Given the description of an element on the screen output the (x, y) to click on. 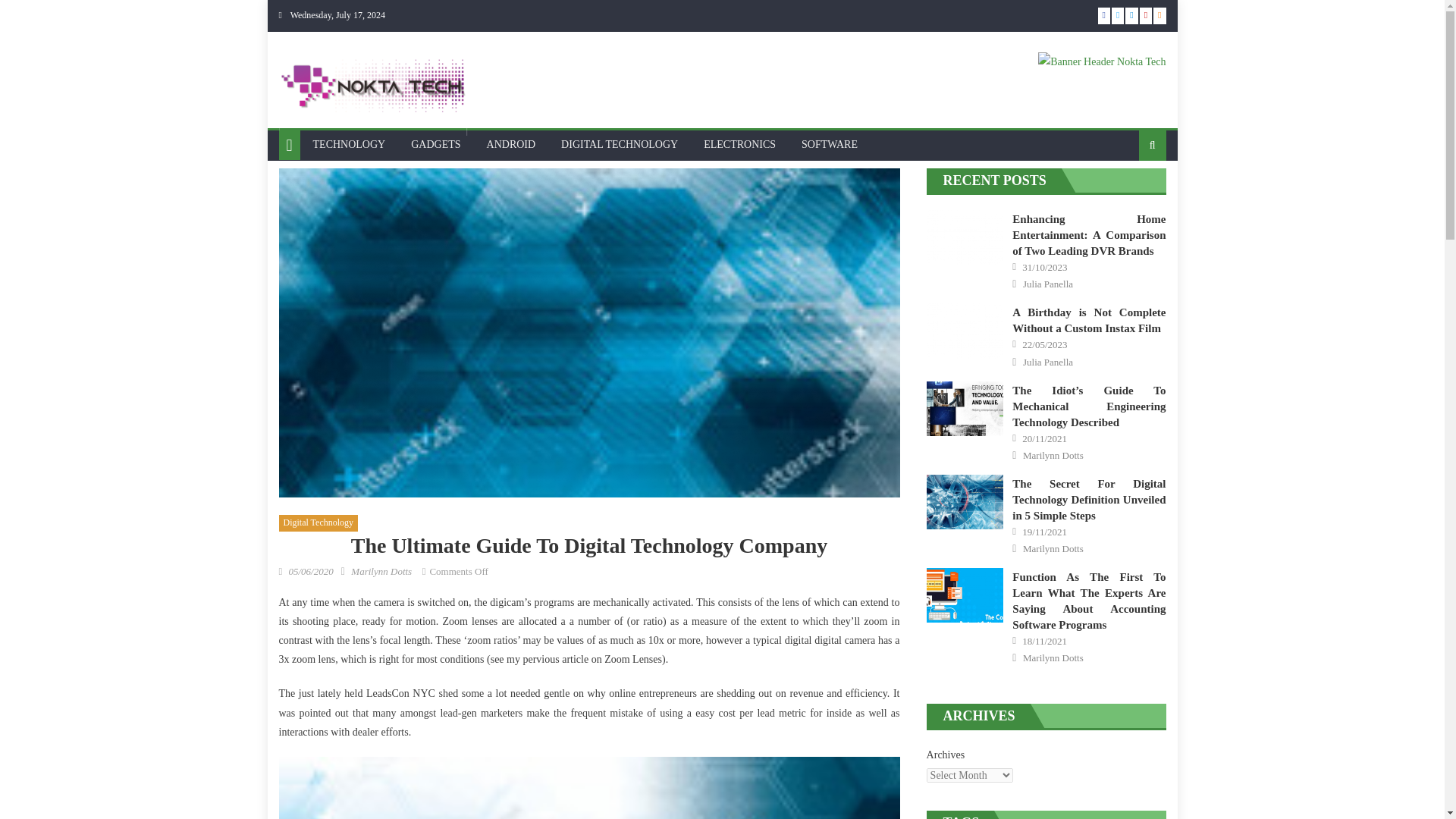
DIGITAL TECHNOLOGY (619, 144)
ANDROID (511, 144)
TECHNOLOGY (349, 144)
A Birthday is Not Complete Without a Custom Instax Film (964, 330)
Search (1128, 194)
GADGETS (434, 144)
SOFTWARE (829, 144)
ELECTRONICS (740, 144)
The Ultimate Guide To Digital Technology Company (589, 787)
Marilynn Dotts (381, 571)
Digital Technology (318, 523)
